Given the description of an element on the screen output the (x, y) to click on. 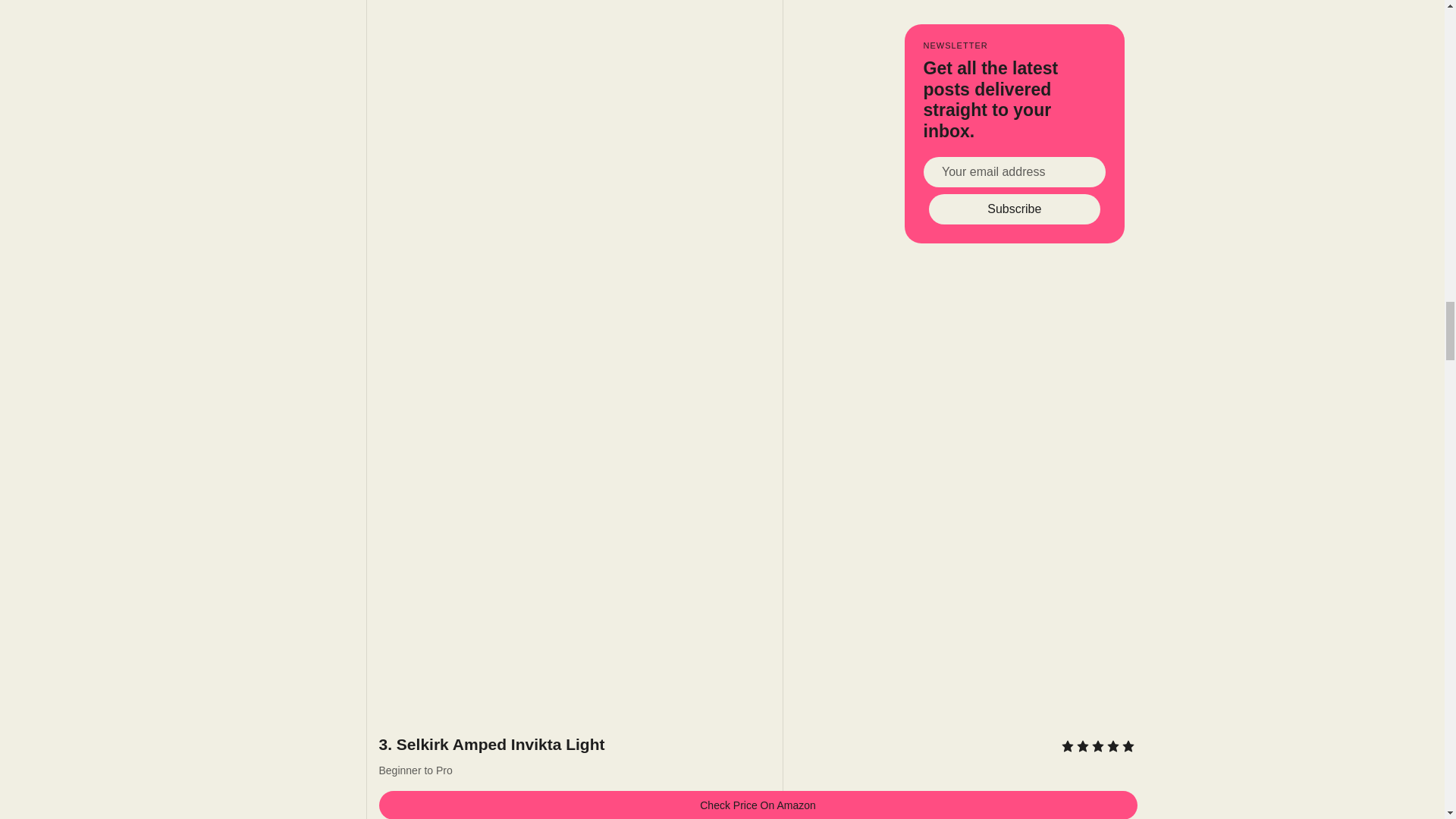
Check Price On Amazon (757, 805)
